Given the description of an element on the screen output the (x, y) to click on. 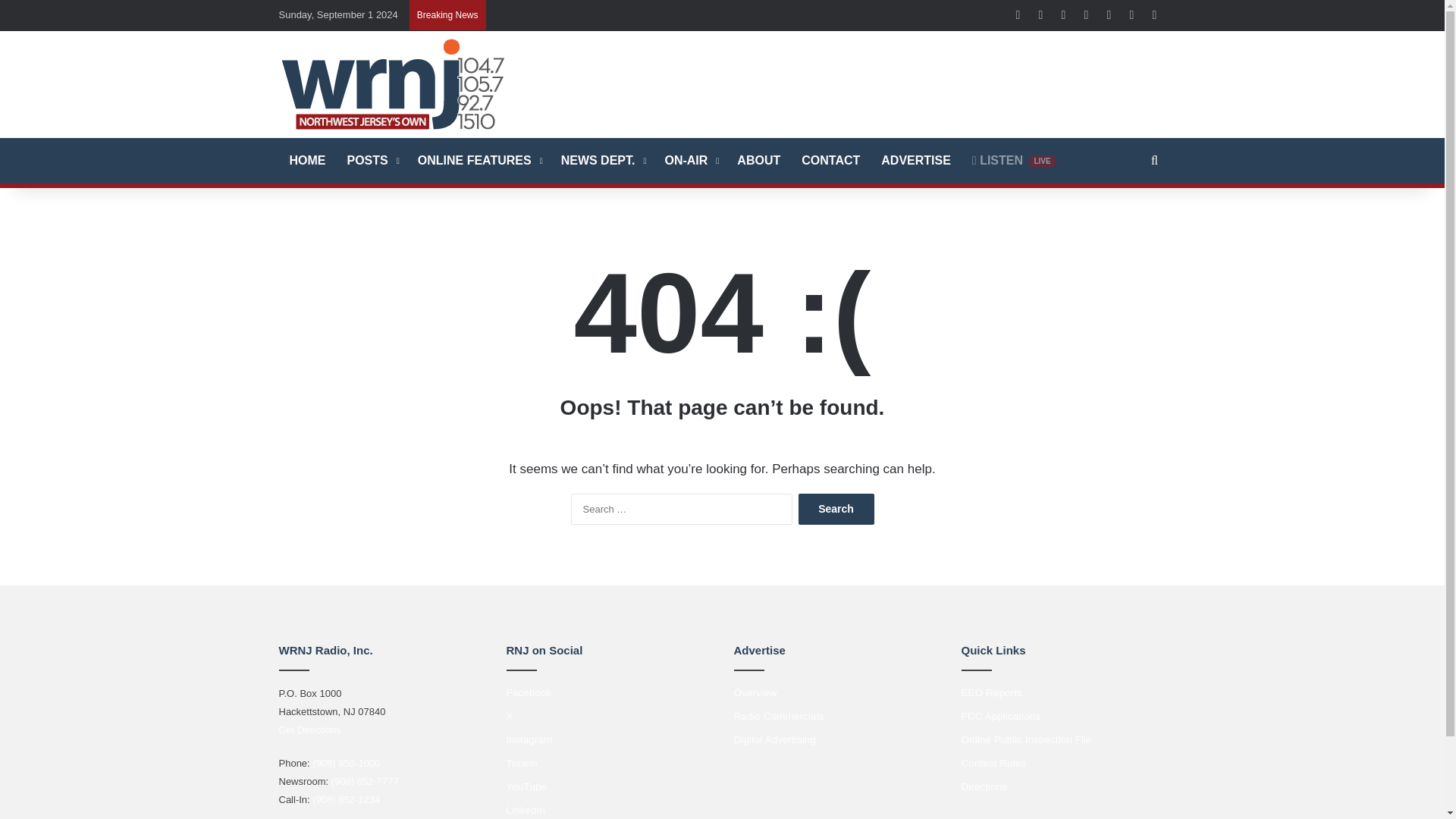
ONLINE FEATURES (478, 160)
ON-AIR (689, 160)
Search (835, 508)
Search (835, 508)
POSTS (371, 160)
ABOUT (758, 160)
HOME (307, 160)
NEWS DEPT. (601, 160)
WRNJ Radio (392, 83)
